Given the description of an element on the screen output the (x, y) to click on. 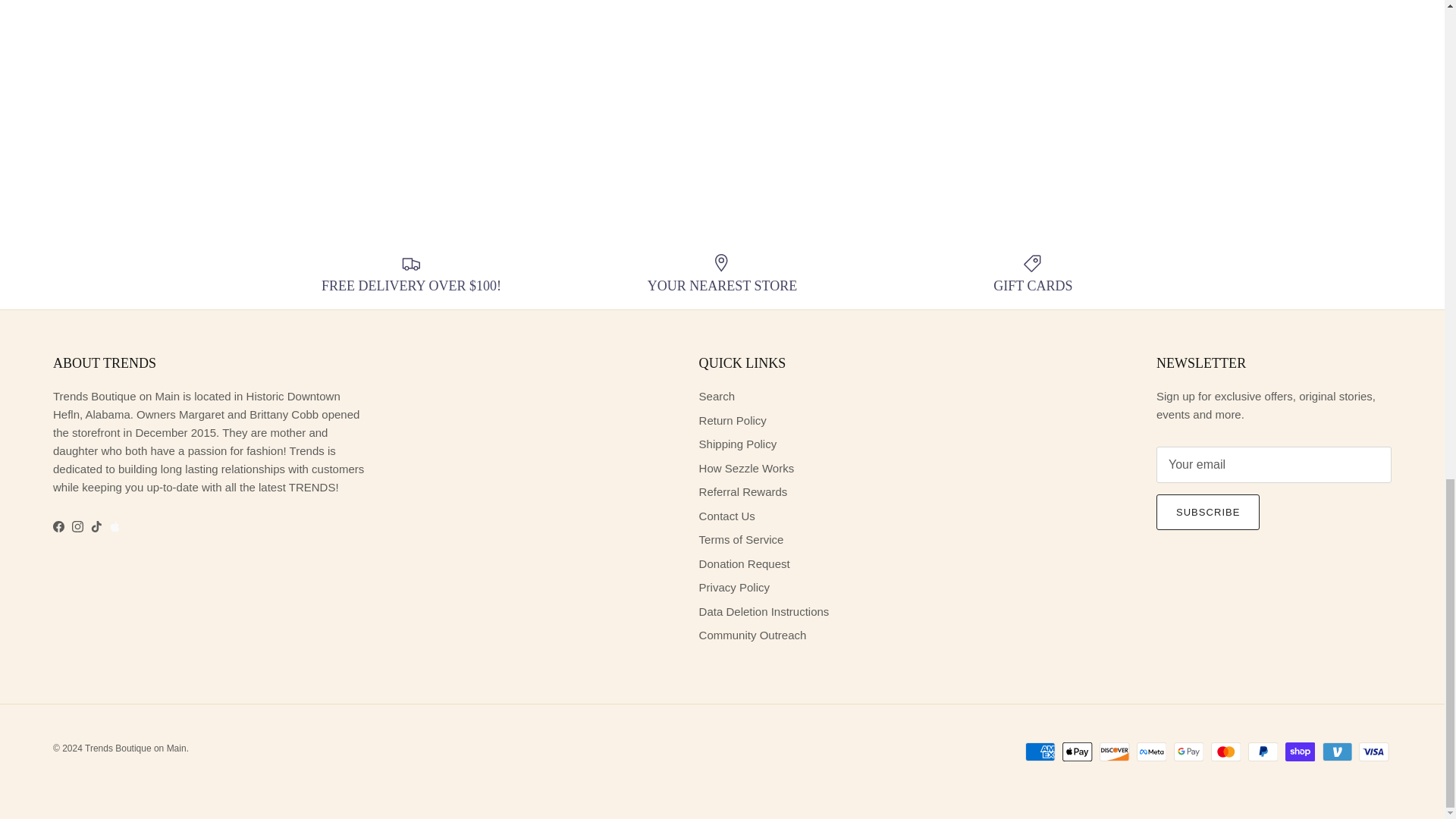
Trends Boutique on Main on Facebook (58, 526)
Apple Pay (1077, 751)
Discover (1114, 751)
Meta Pay (1151, 751)
American Express (1040, 751)
Trends Boutique on Main on TikTok (95, 526)
Trends Boutique on Main on Instagram (76, 526)
